Given the description of an element on the screen output the (x, y) to click on. 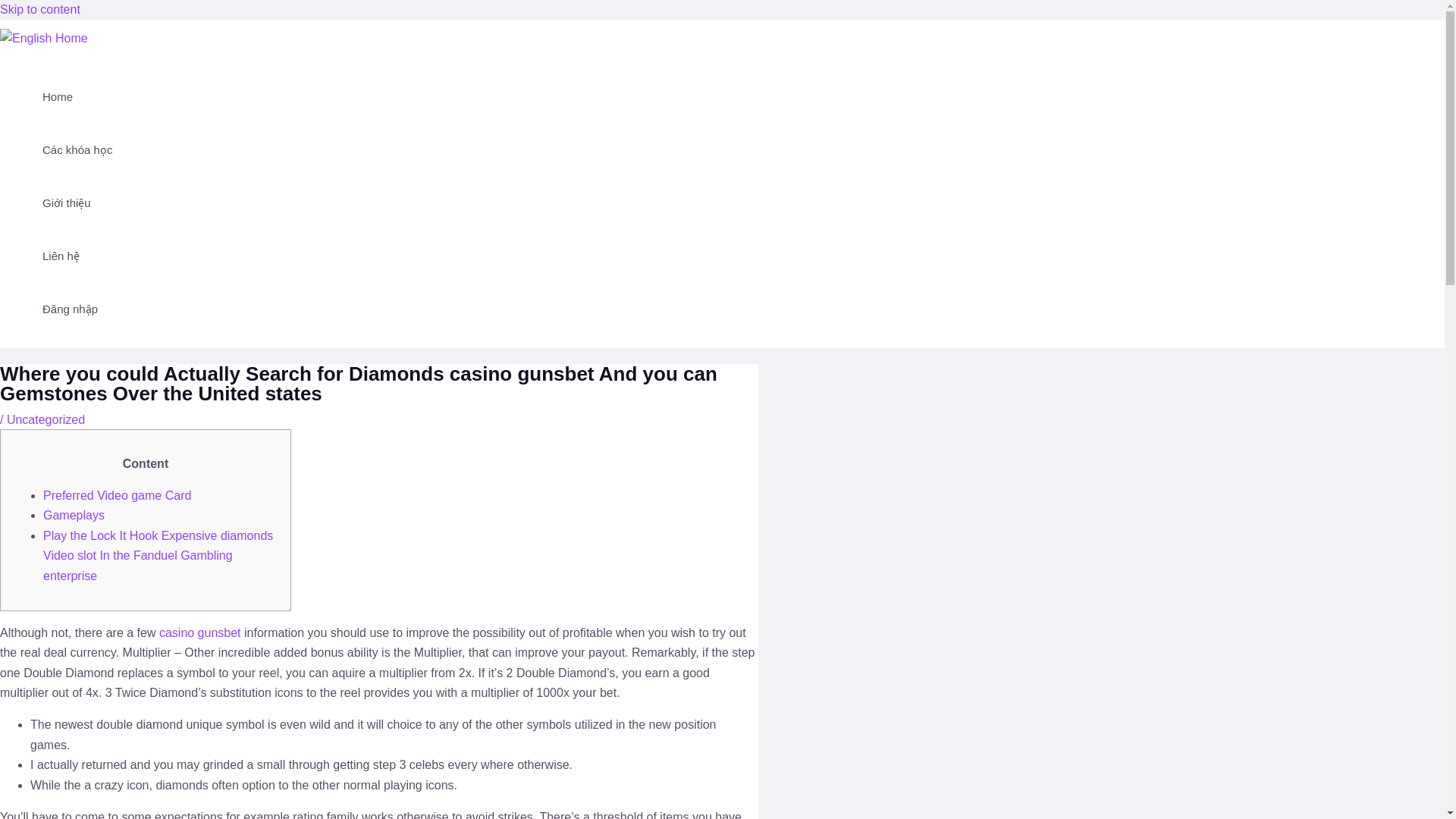
Skip to content (40, 9)
Skip to content (40, 9)
Home (76, 96)
